Given the description of an element on the screen output the (x, y) to click on. 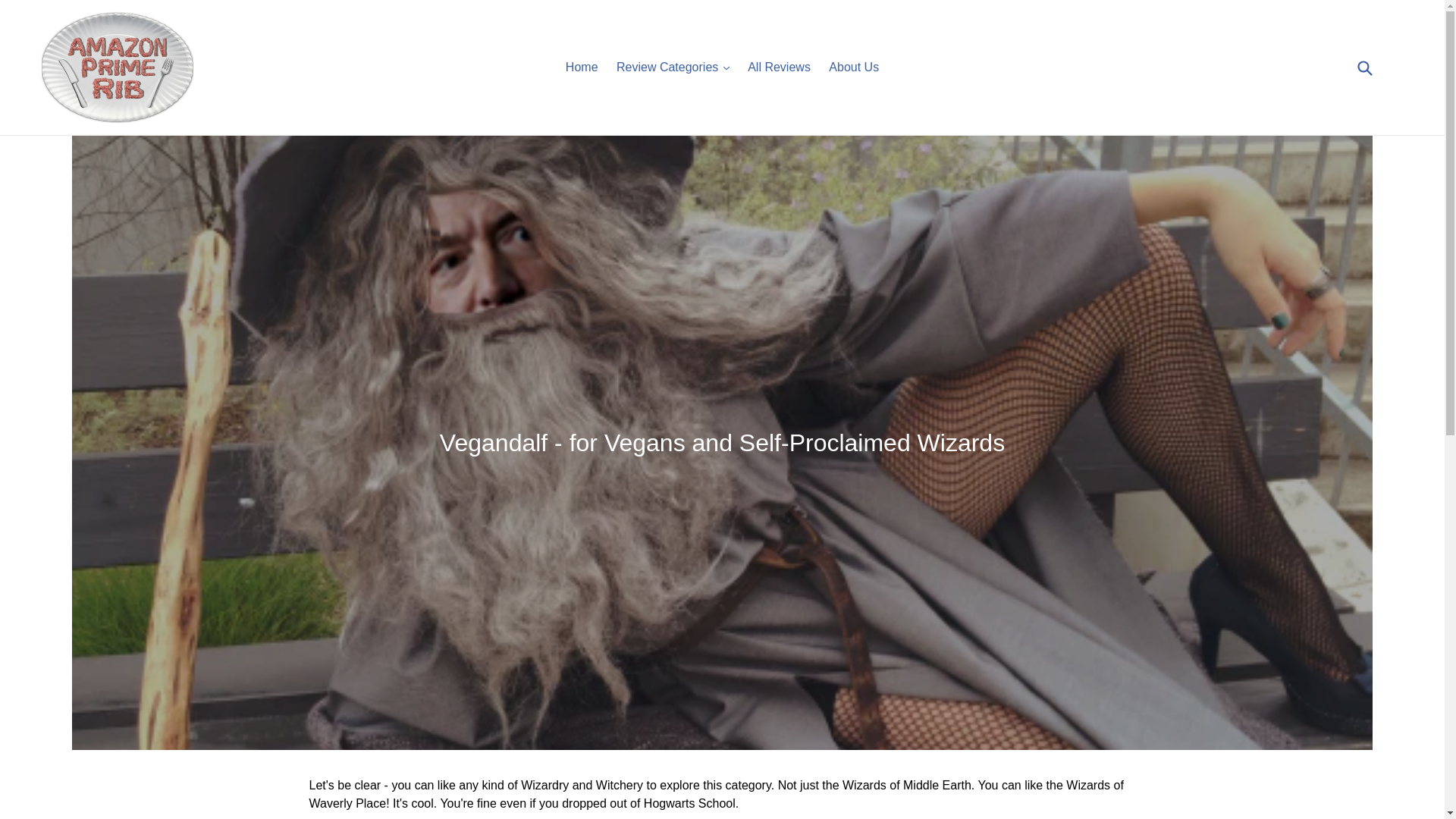
All Reviews (778, 67)
About Us (853, 67)
Home (581, 67)
